Given the description of an element on the screen output the (x, y) to click on. 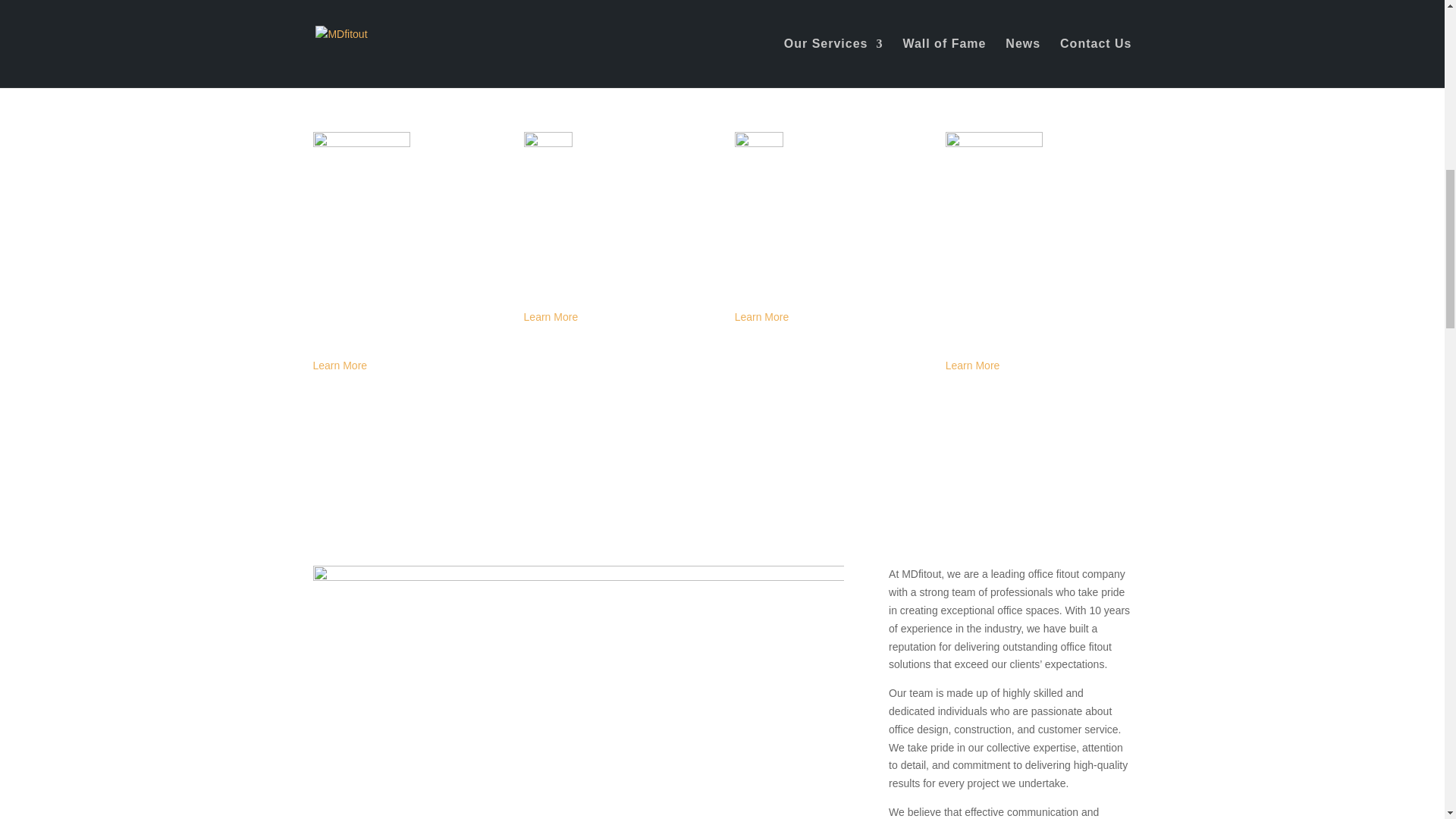
Learn More (972, 62)
Learn More (339, 80)
Learn More (551, 70)
Learn More (762, 80)
4X1A4613 (578, 692)
Learn More (551, 316)
construction-icon-5-yellow (993, 180)
Learn More (339, 365)
Learn More (972, 365)
construction-company-icon-4-yellow (759, 155)
construction-icon-6-yellow (361, 180)
Learn More (762, 316)
construction-company-icon-8-yellow (548, 155)
